Given the description of an element on the screen output the (x, y) to click on. 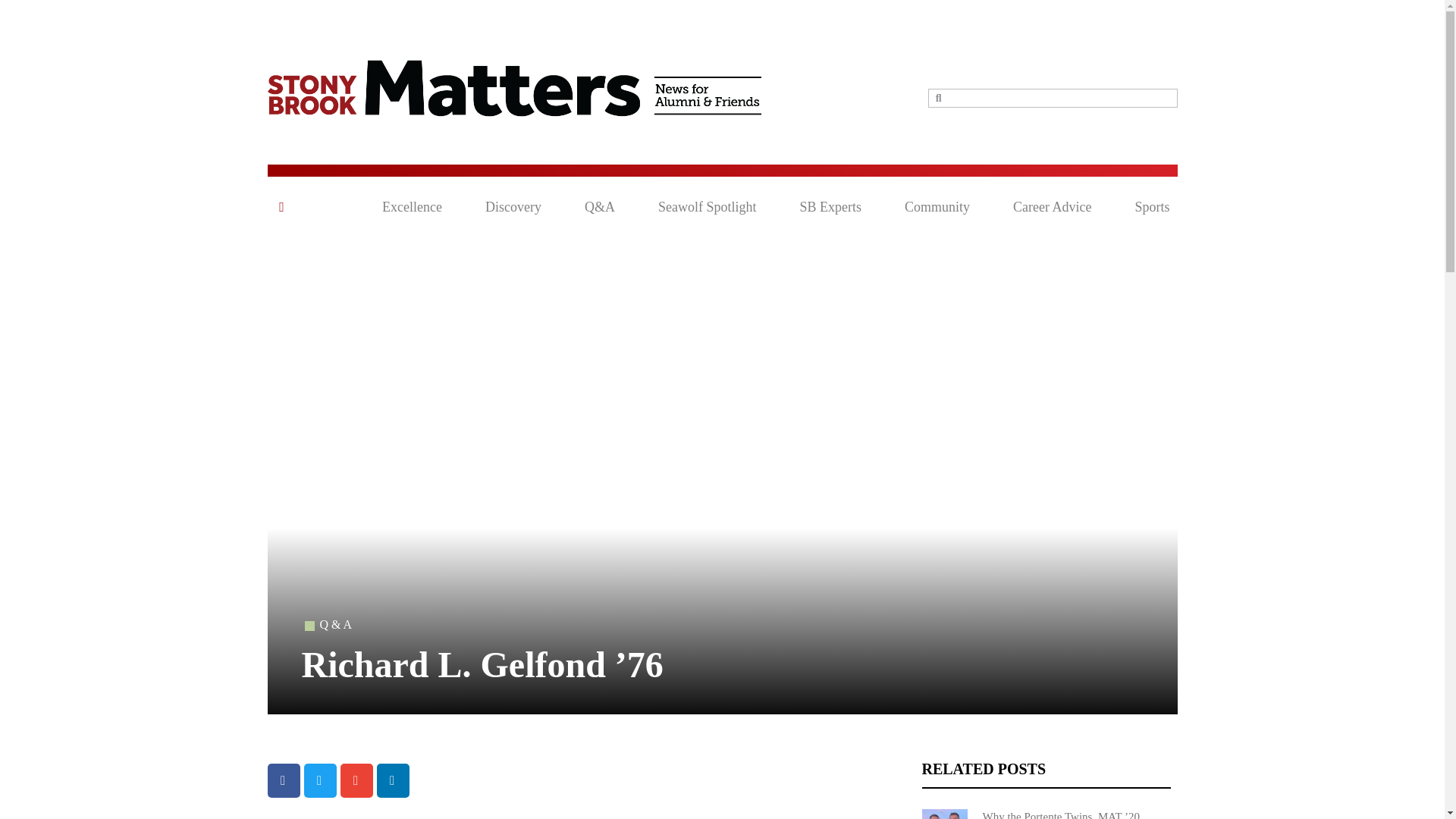
Seawolf Spotlight (707, 206)
SB Experts (830, 206)
Career Advice (1051, 206)
Community (936, 206)
Discovery (512, 206)
Excellence (411, 206)
Sports (1151, 206)
